Given the description of an element on the screen output the (x, y) to click on. 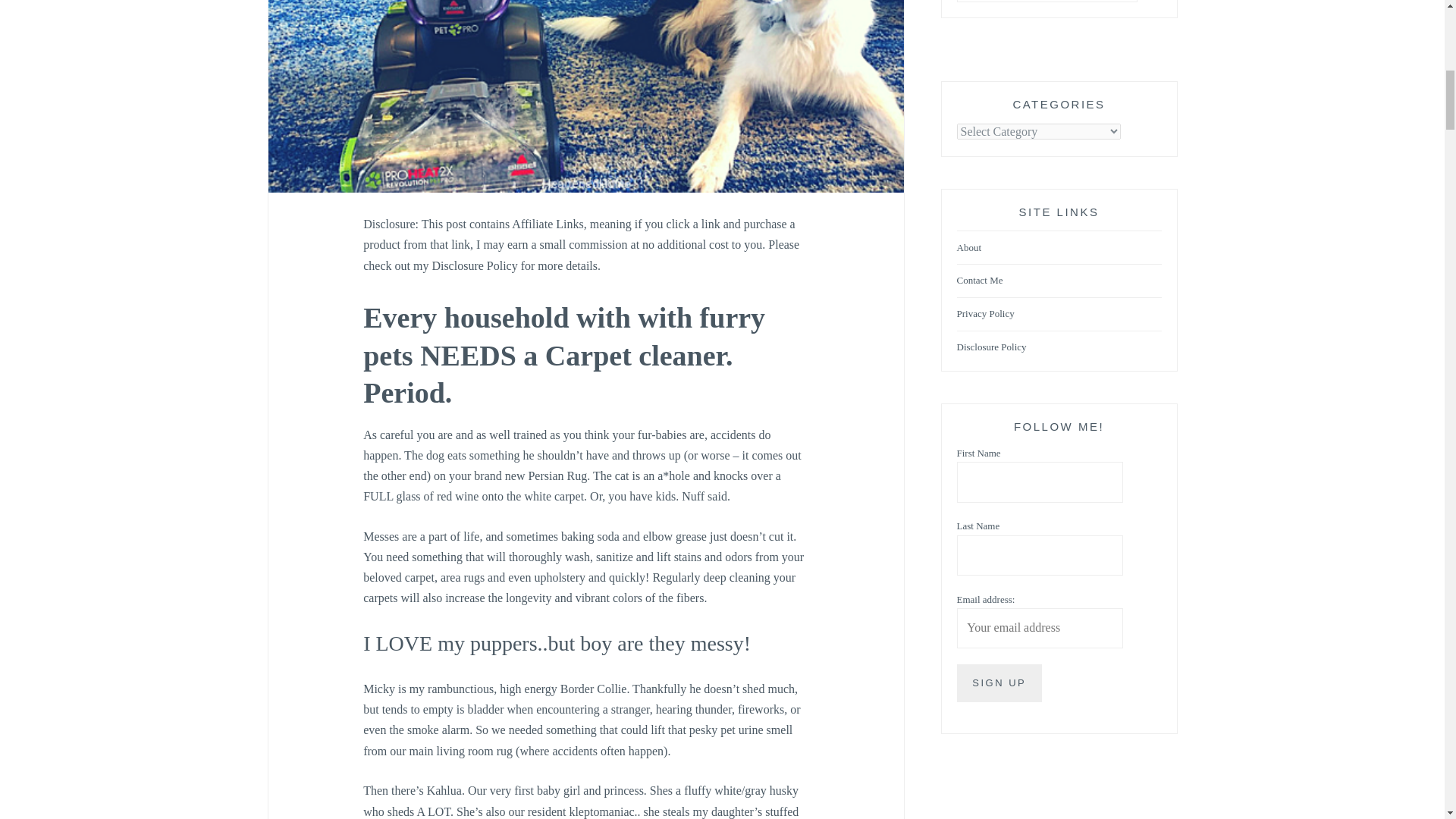
Sign up (999, 683)
